Given the description of an element on the screen output the (x, y) to click on. 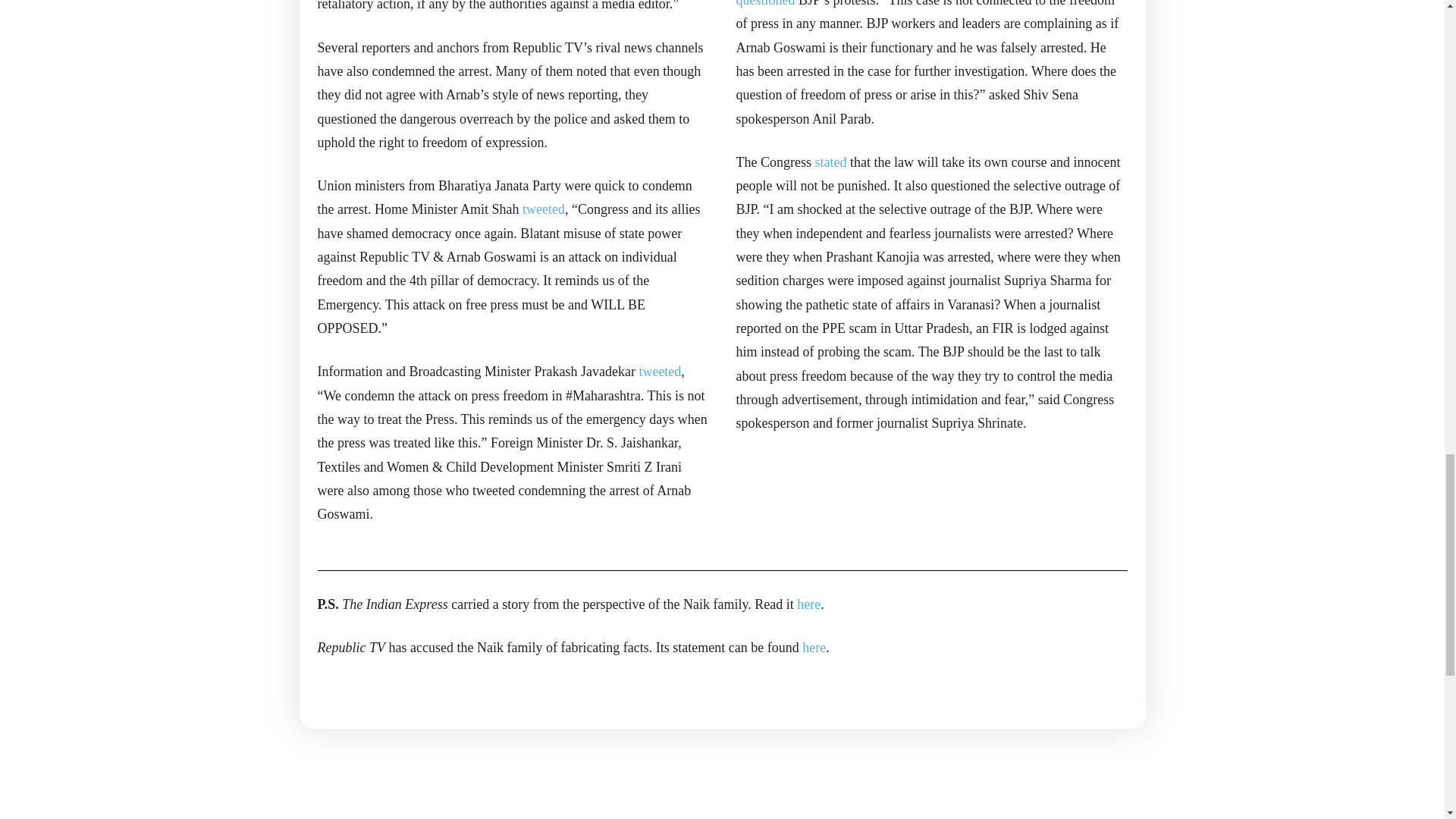
tweeted (543, 209)
questioned (764, 3)
tweeted (660, 371)
here (813, 647)
stated (829, 161)
here (808, 604)
